Given the description of an element on the screen output the (x, y) to click on. 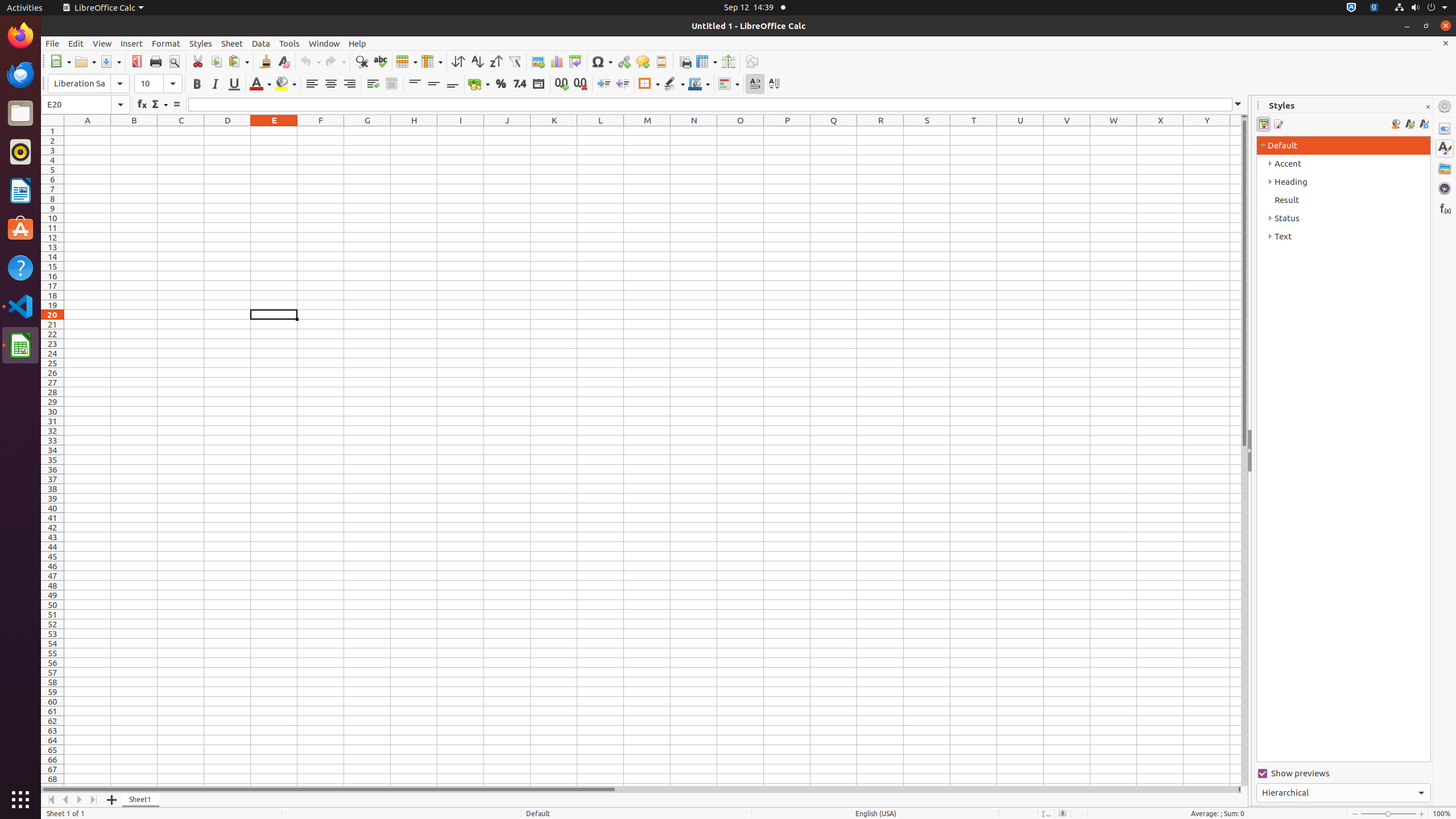
Cut Element type: push-button (197, 61)
P1 Element type: table-cell (786, 130)
Text direction from left to right Element type: toggle-button (754, 83)
LibreOffice Calc Element type: push-button (20, 344)
Bold Element type: toggle-button (196, 83)
